Given the description of an element on the screen output the (x, y) to click on. 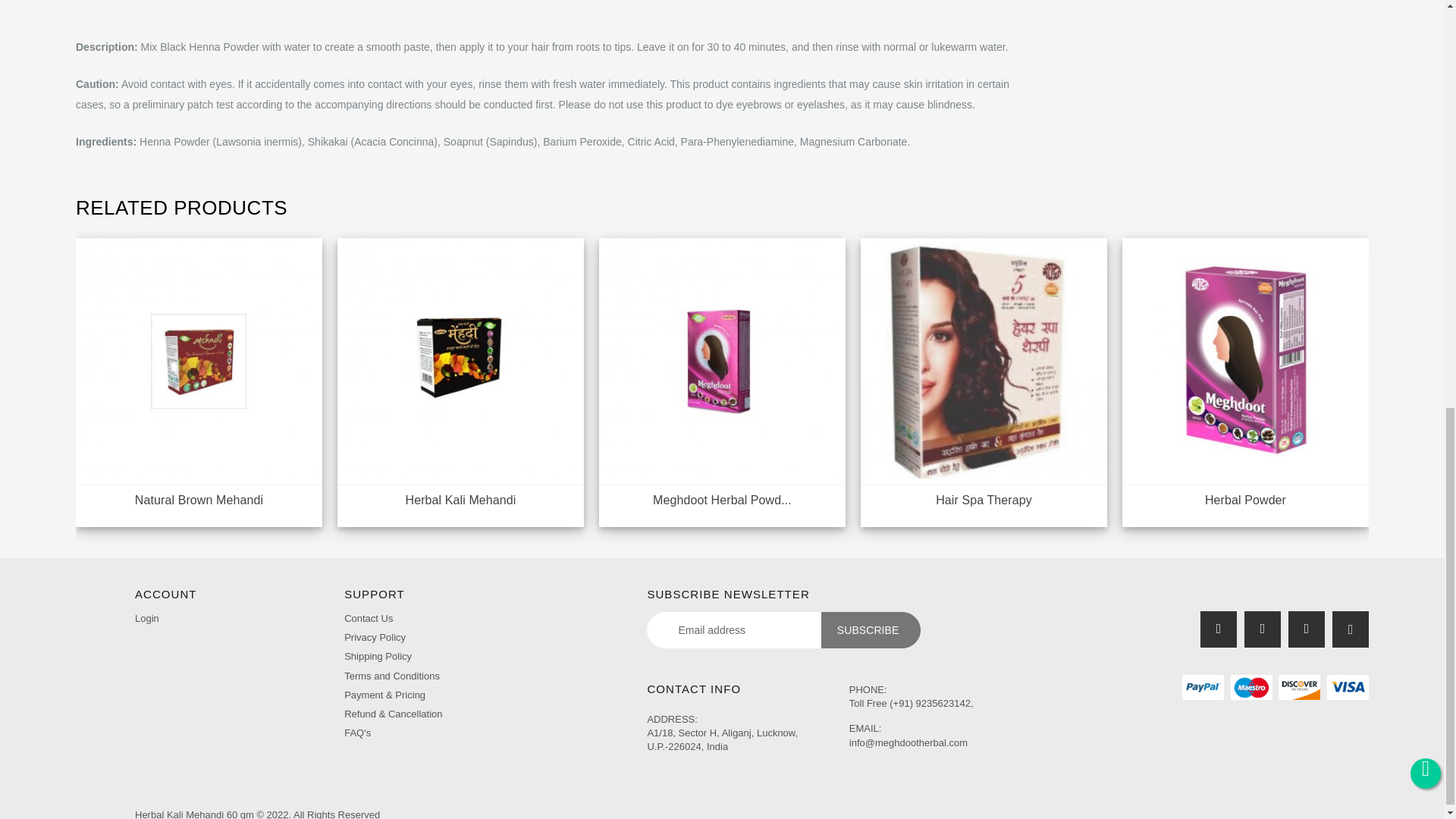
Subscribe (871, 629)
